Given the description of an element on the screen output the (x, y) to click on. 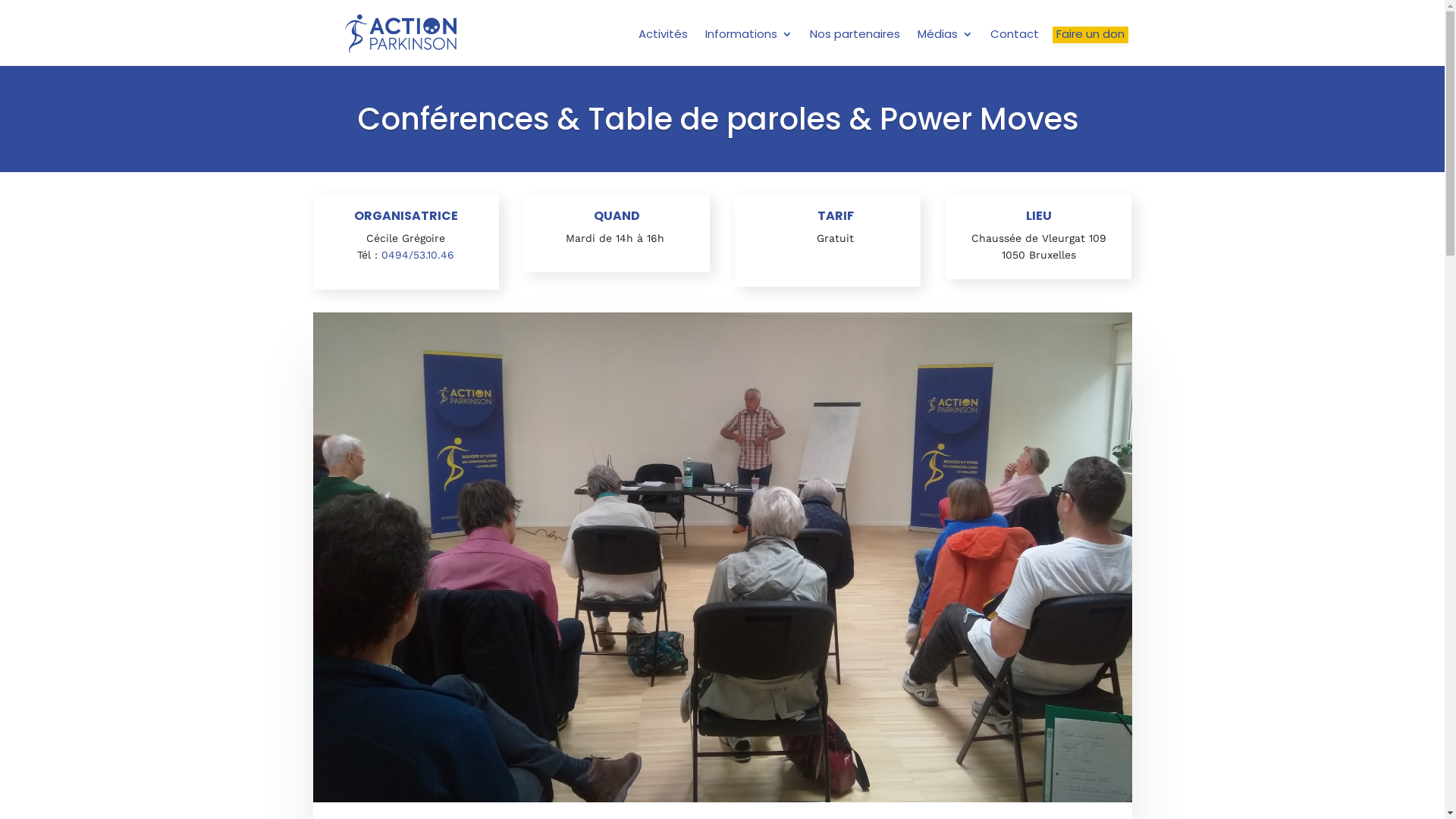
Contact Element type: text (1014, 36)
0494/53.10.46 Element type: text (415, 254)
Dr Bouilliez juin21 (4) Element type: hover (721, 557)
Nos partenaires Element type: text (854, 36)
Informations Element type: text (748, 36)
Faire un don Element type: text (1089, 36)
